Given the description of an element on the screen output the (x, y) to click on. 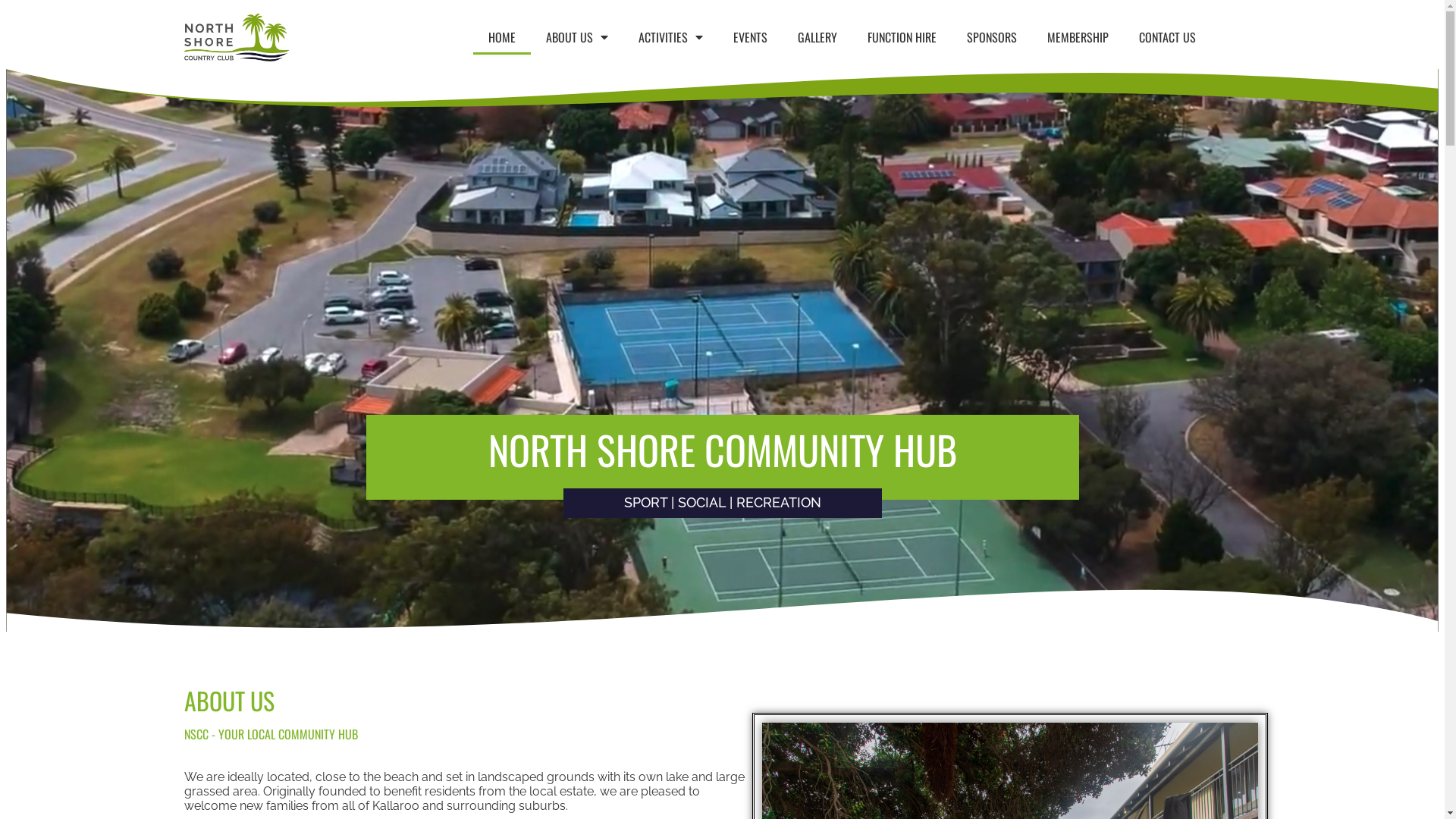
CONTACT US Element type: text (1167, 36)
EVENTS Element type: text (750, 36)
FUNCTION HIRE Element type: text (901, 36)
ACTIVITIES Element type: text (670, 36)
SPONSORS Element type: text (991, 36)
HOME Element type: text (501, 36)
ABOUT US Element type: text (576, 36)
MEMBERSHIP Element type: text (1077, 36)
GALLERY Element type: text (817, 36)
